Given the description of an element on the screen output the (x, y) to click on. 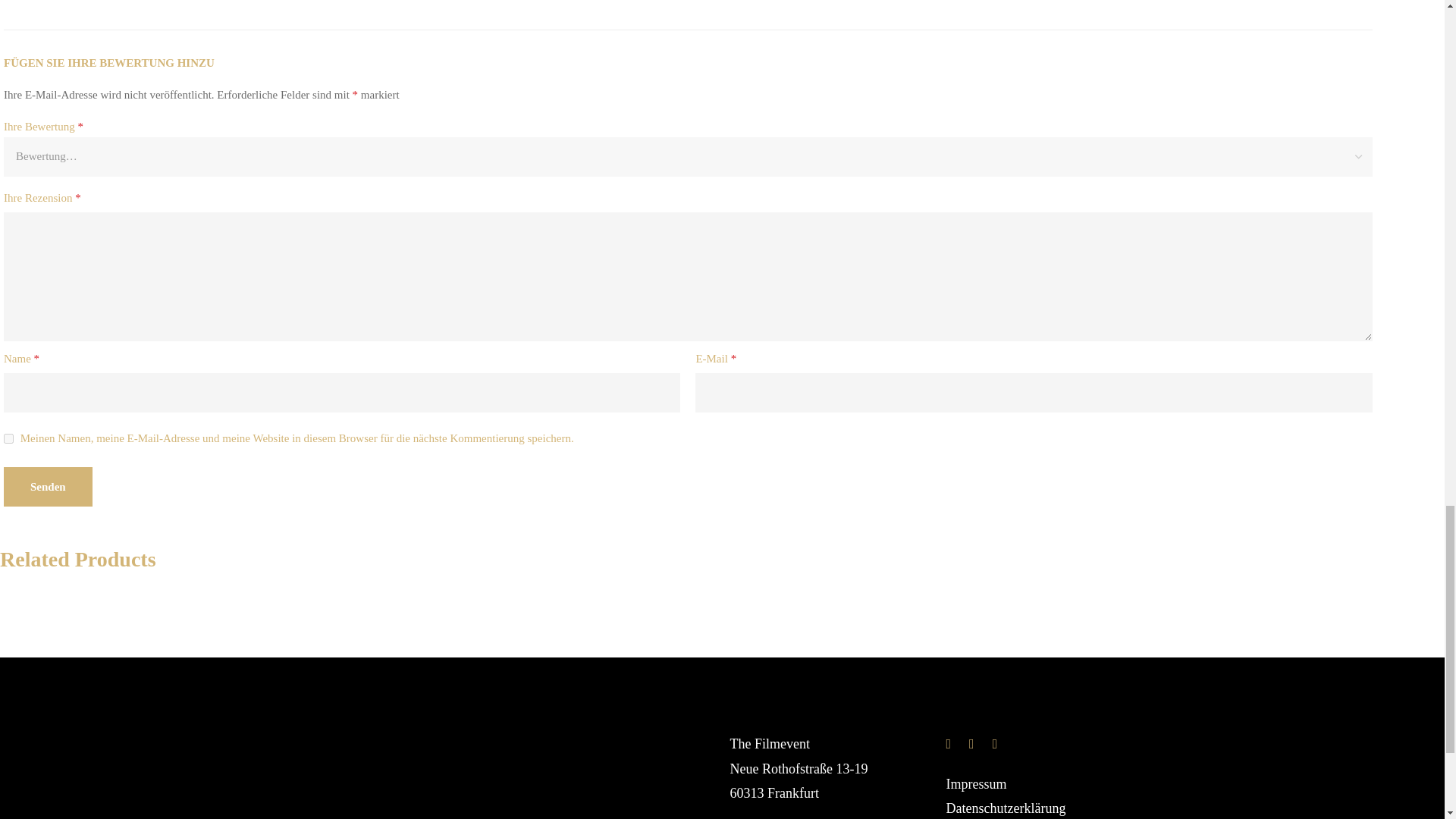
Senden (48, 486)
yes (8, 438)
